Given the description of an element on the screen output the (x, y) to click on. 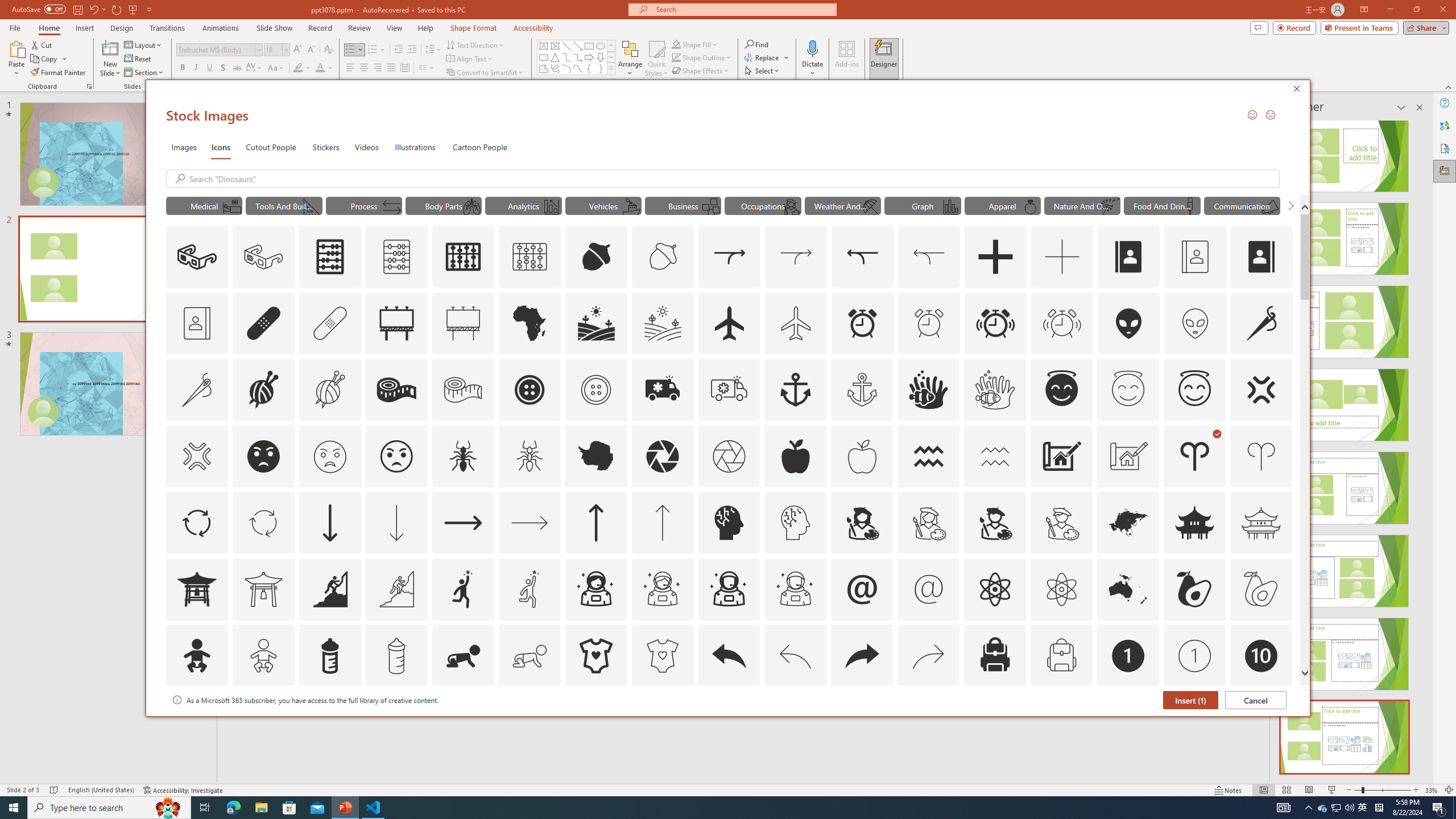
AutomationID: Icons_3dGlasses (197, 256)
AutomationID: Icons_AlterationsTailoring1_M (329, 389)
AutomationID: Icons_BabyBottle_M (395, 655)
Cancel (1255, 700)
AutomationID: Icons_Back_LTR (729, 655)
